Given the description of an element on the screen output the (x, y) to click on. 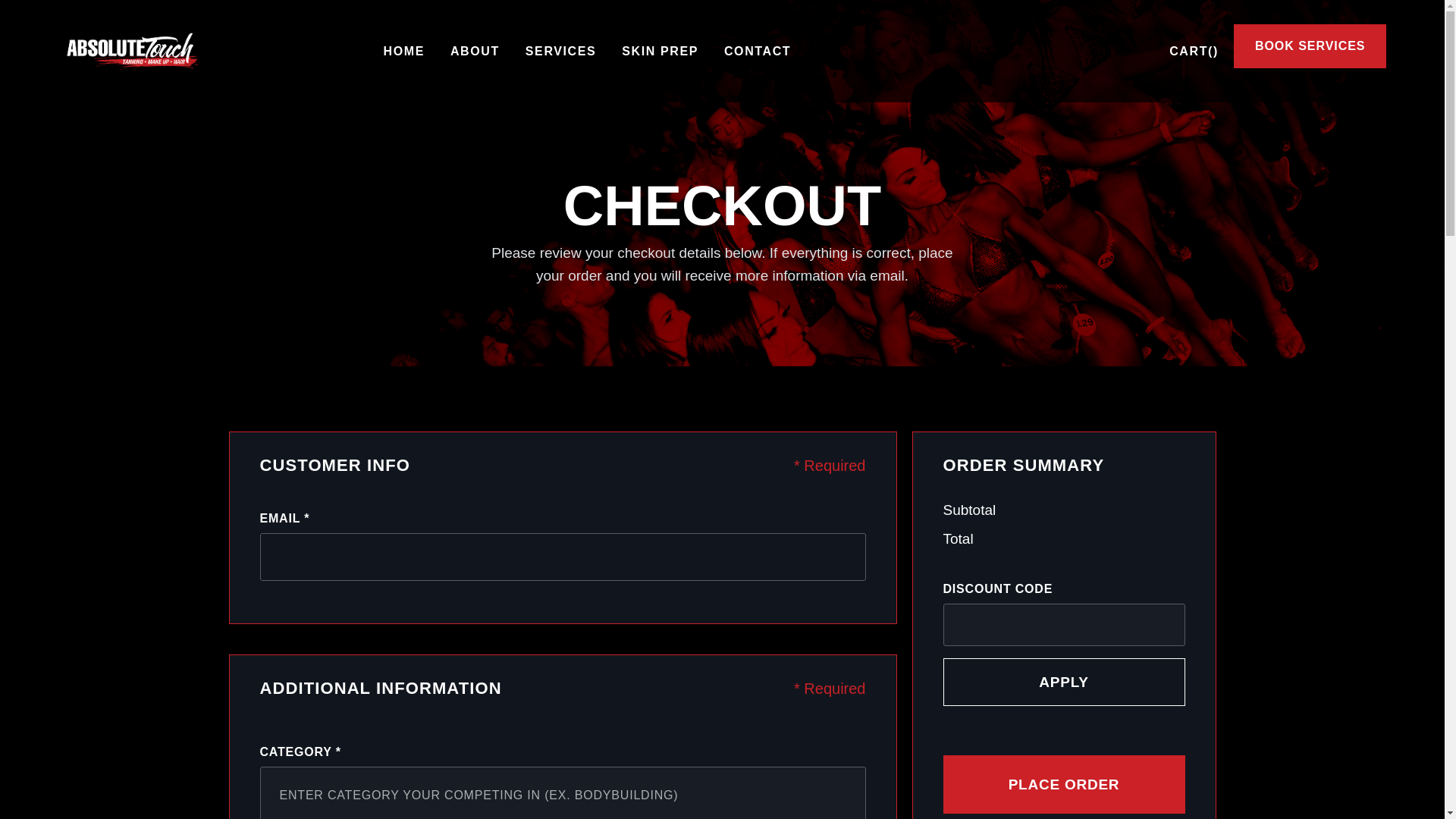
ABOUT Element type: text (474, 51)
APPLY Element type: text (1064, 682)
BOOK SERVICES Element type: text (1309, 46)
HOME Element type: text (403, 51)
CONTACT Element type: text (757, 51)
CART(
) Element type: text (1193, 51)
SERVICES Element type: text (560, 51)
SKIN PREP Element type: text (659, 51)
PLACE ORDER Element type: text (1064, 784)
